Given the description of an element on the screen output the (x, y) to click on. 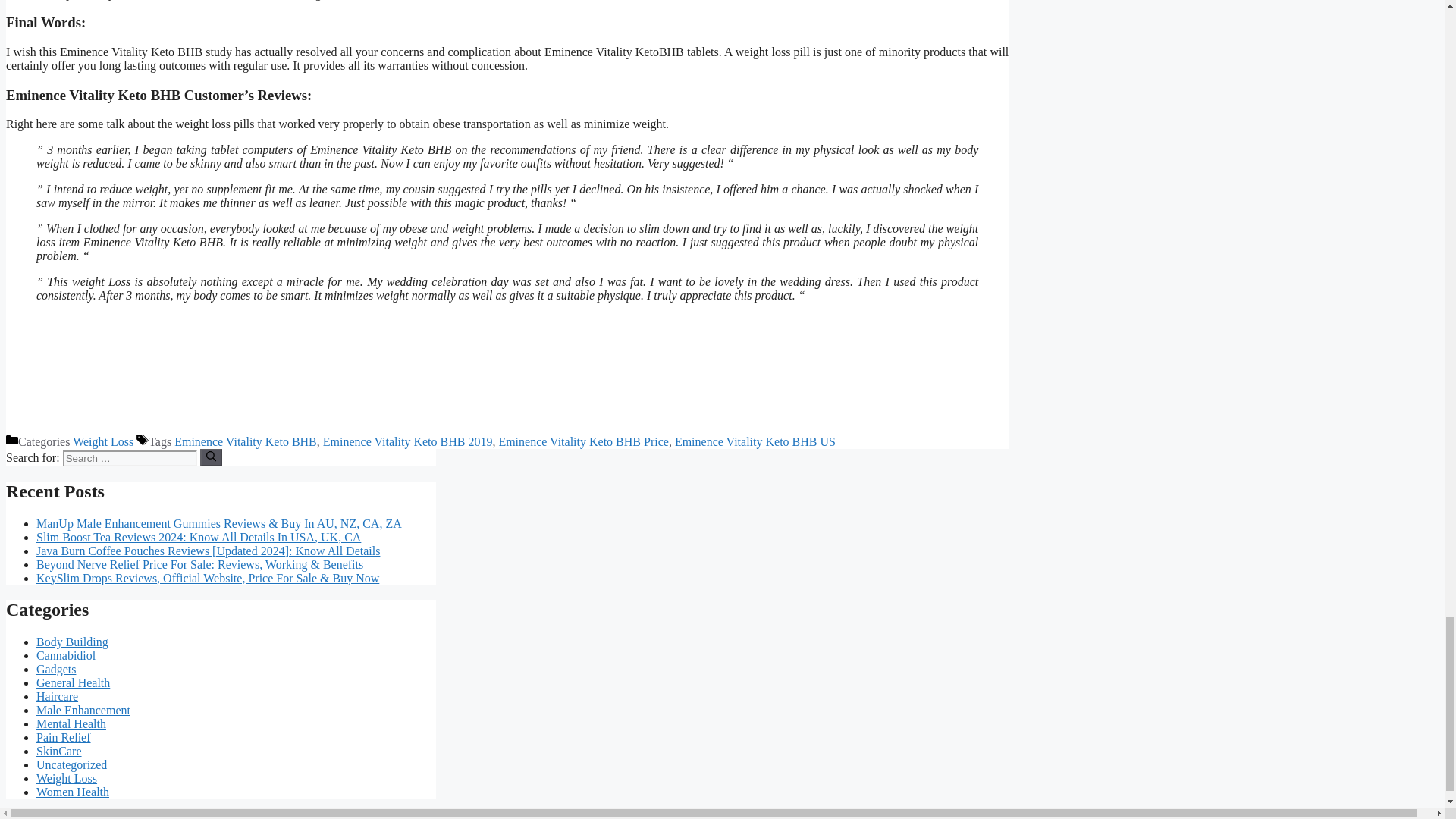
Weight Loss (102, 440)
Eminence Vitality Keto BHB 2019 (408, 440)
Eminence Vitality Keto BHB Price (582, 440)
Male Enhancement (83, 709)
Eminence Vitality Keto BHB US (755, 440)
Body Building (71, 641)
Slim Boost Tea Reviews 2024: Know All Details In USA, UK, CA (198, 536)
Uncategorized (71, 764)
Weight Loss (66, 778)
SkinCare (58, 750)
